Given the description of an element on the screen output the (x, y) to click on. 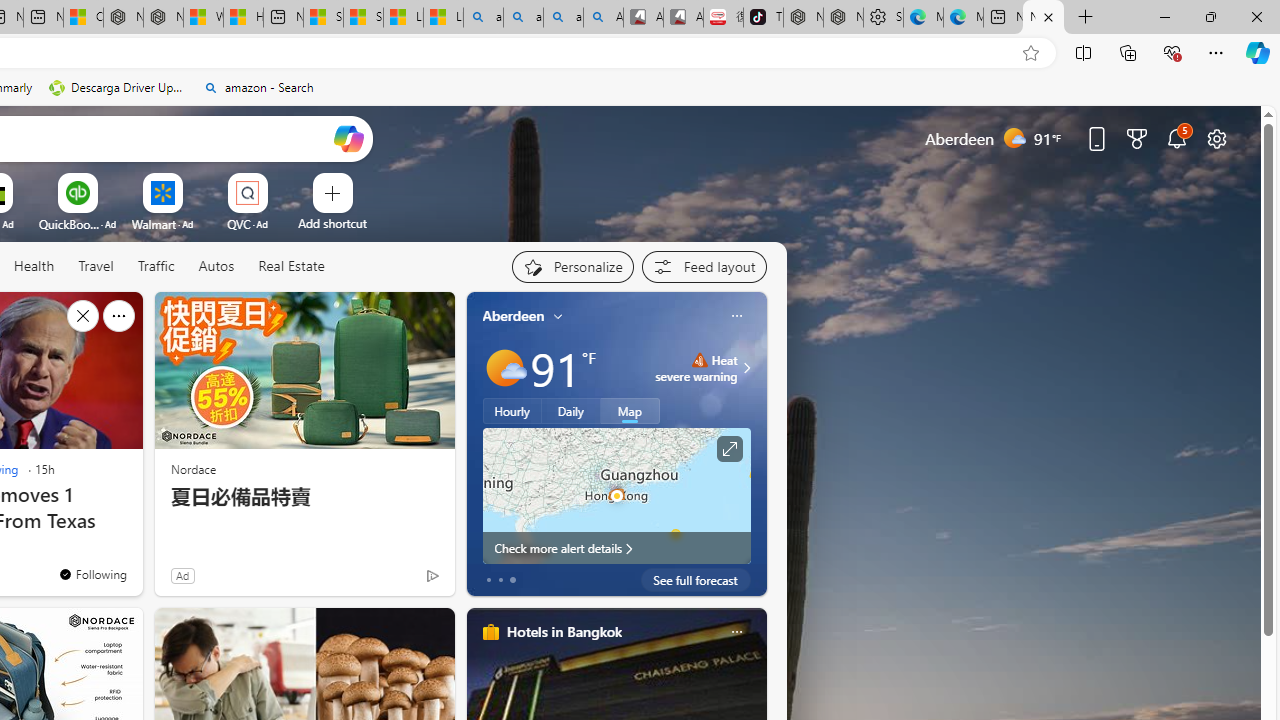
Hide this story (82, 315)
Traffic (155, 265)
Mostly sunny (504, 368)
Feed settings (703, 266)
tab-2 (511, 579)
Nordace Siena Pro 15 Backpack (843, 17)
Class: icon-img (736, 632)
Health (34, 265)
Larger map  (616, 495)
You're following FOX News (390, 579)
